Given the description of an element on the screen output the (x, y) to click on. 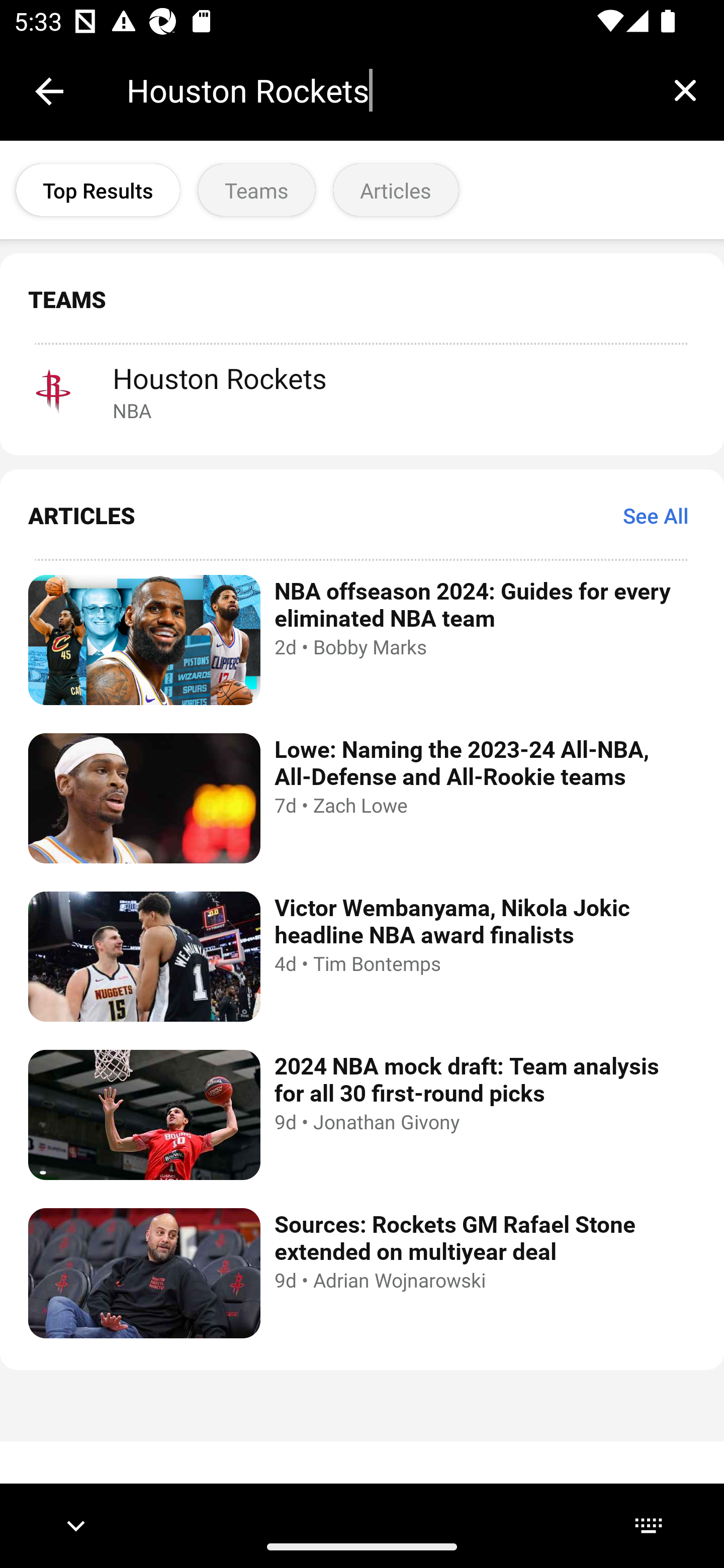
Collapse (49, 91)
Clear query (685, 89)
Houston Rockets (386, 90)
Top Results (97, 190)
Teams (256, 190)
Articles (395, 190)
Houston Rockets : NBA Houston Rockets NBA (362, 390)
See All (655, 514)
